Given the description of an element on the screen output the (x, y) to click on. 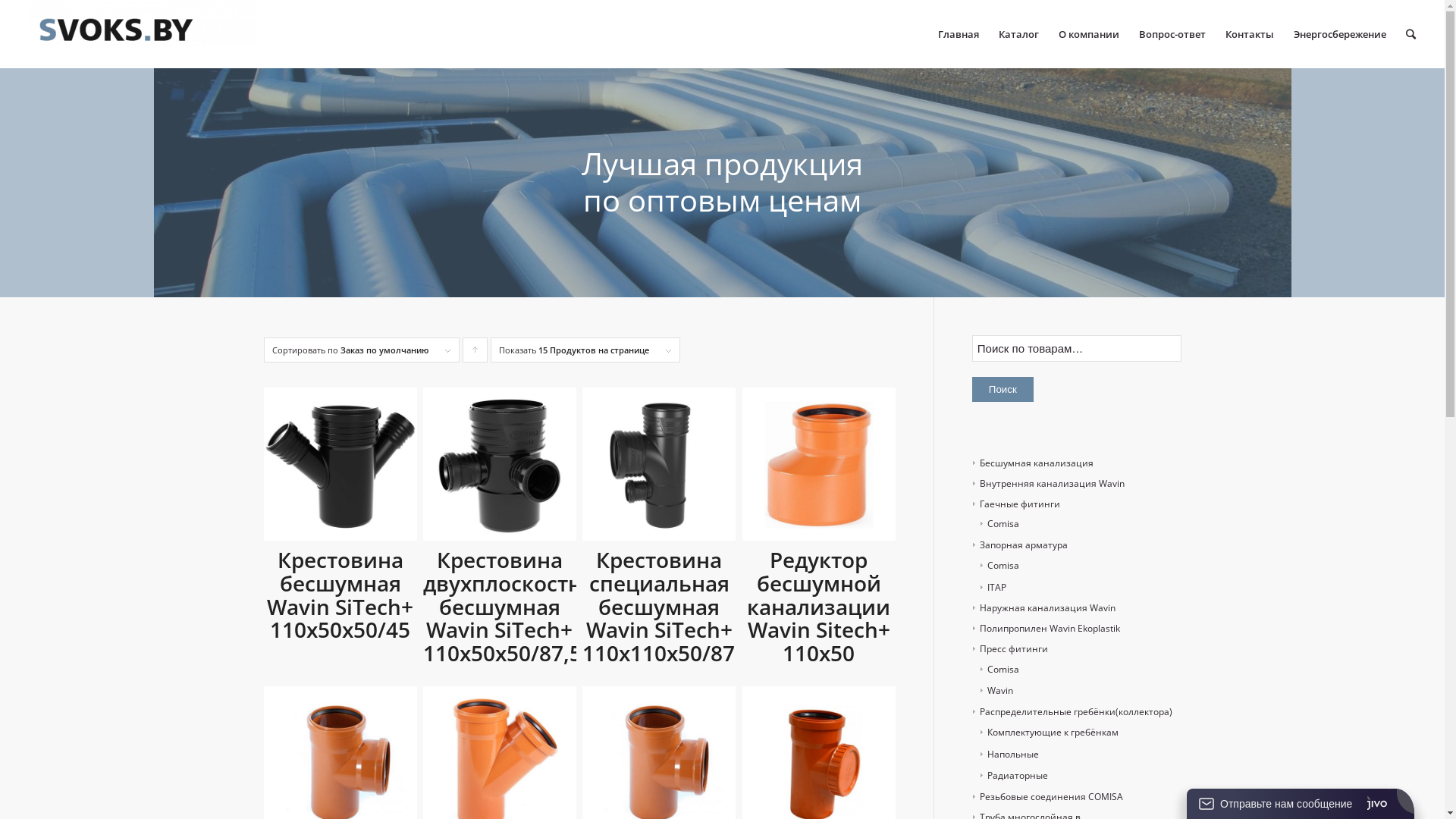
Comisa Element type: text (999, 668)
Wavin Element type: text (996, 690)
ITAP Element type: text (993, 586)
Comisa Element type: text (999, 523)
Comisa Element type: text (999, 564)
